Given the description of an element on the screen output the (x, y) to click on. 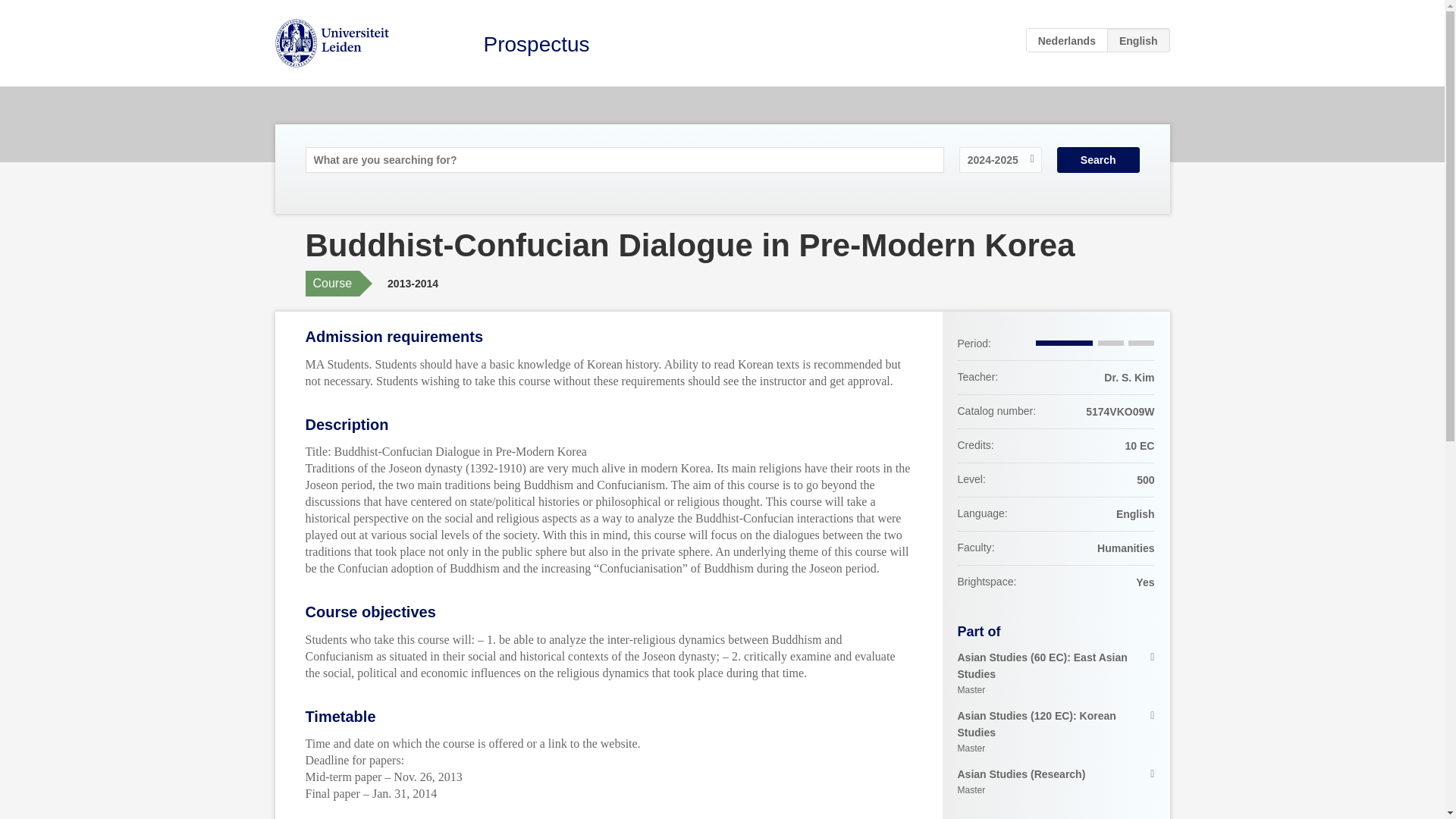
Prospectus (536, 44)
NL (1067, 39)
Search (1098, 159)
